Given the description of an element on the screen output the (x, y) to click on. 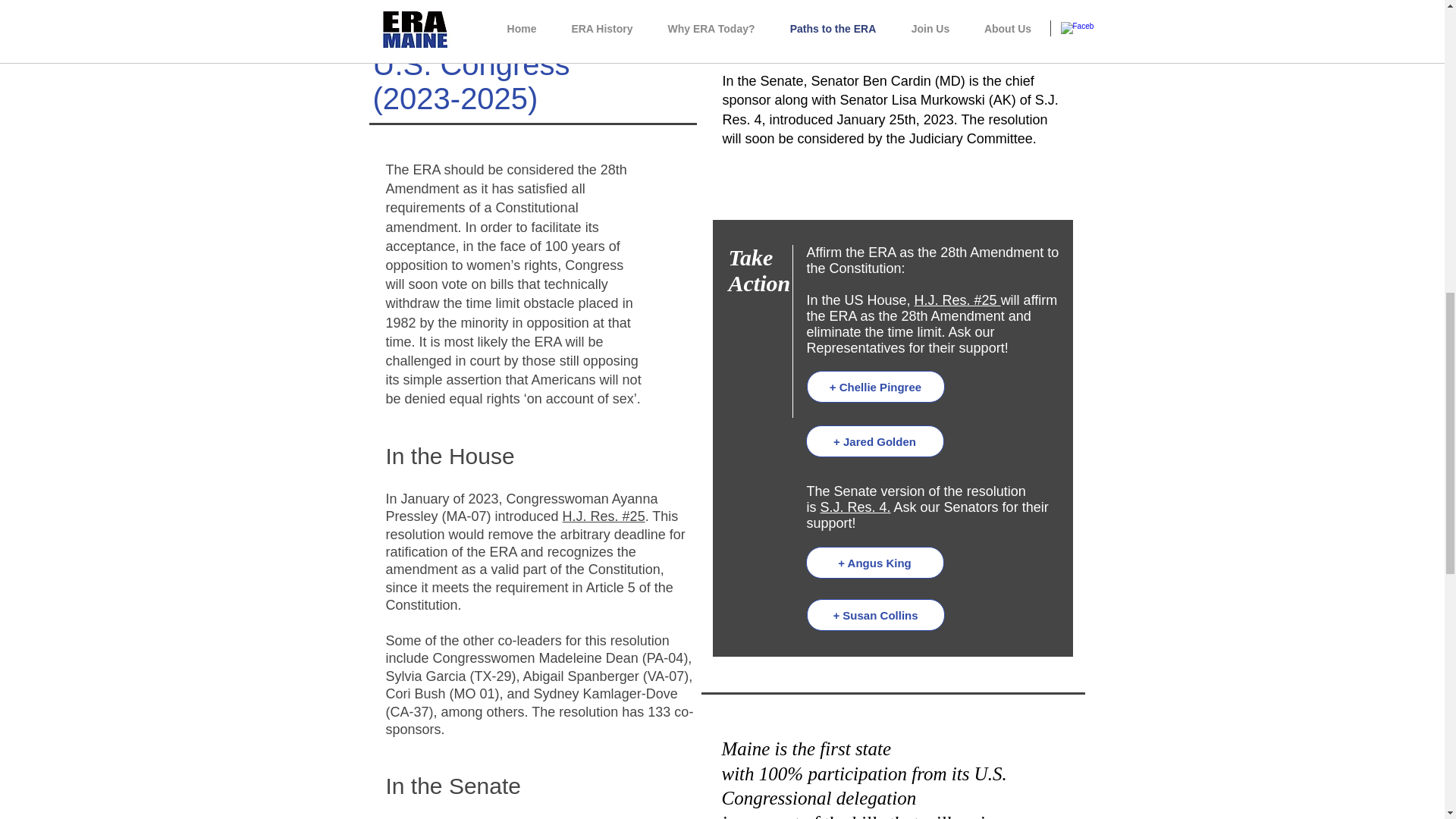
In the US House, (860, 299)
S.J. Res. 4. Ask our Senators for their support!  (927, 514)
support the Resolution (886, 33)
The Senate version of the resolution is  (916, 499)
